Given the description of an element on the screen output the (x, y) to click on. 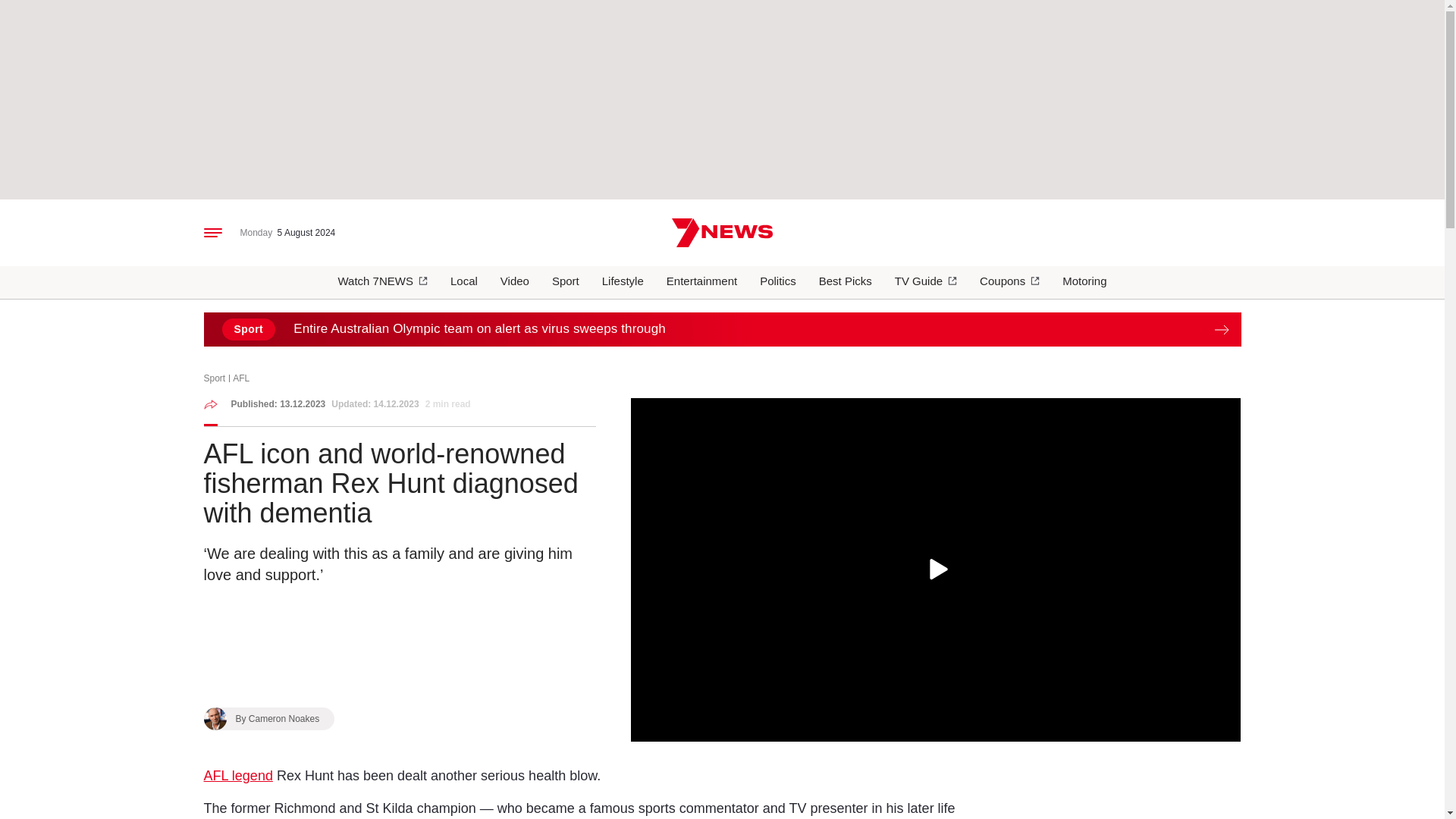
Click to open navigation (212, 232)
Play Video (935, 569)
